Given the description of an element on the screen output the (x, y) to click on. 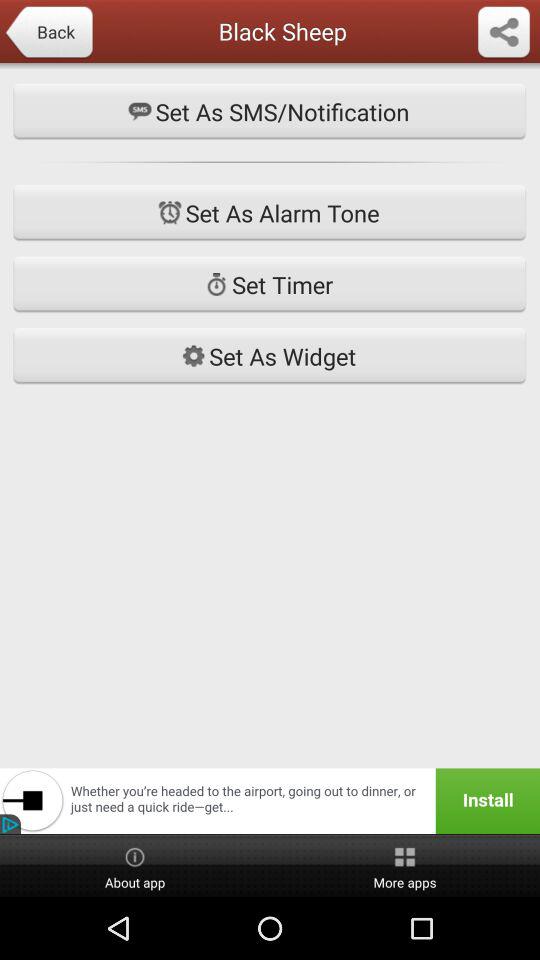
click icon at the bottom (270, 800)
